Given the description of an element on the screen output the (x, y) to click on. 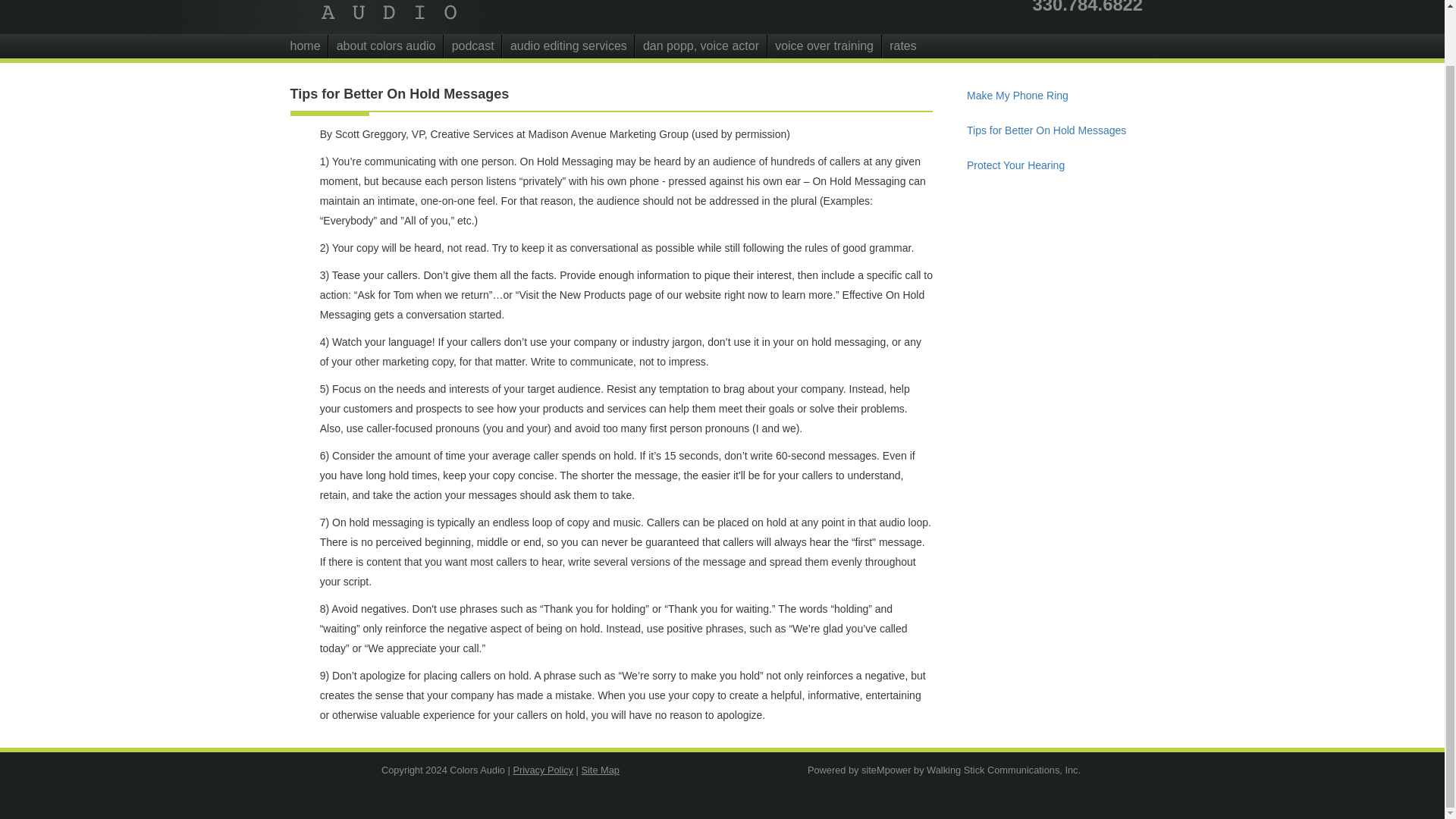
about colors audio (385, 46)
Site Map (600, 769)
home (308, 46)
dan popp, voice actor (699, 46)
audio editing services (567, 46)
rates (903, 46)
podcast (472, 46)
Home (425, 17)
voice over training (823, 46)
Site Map (600, 769)
